Given the description of an element on the screen output the (x, y) to click on. 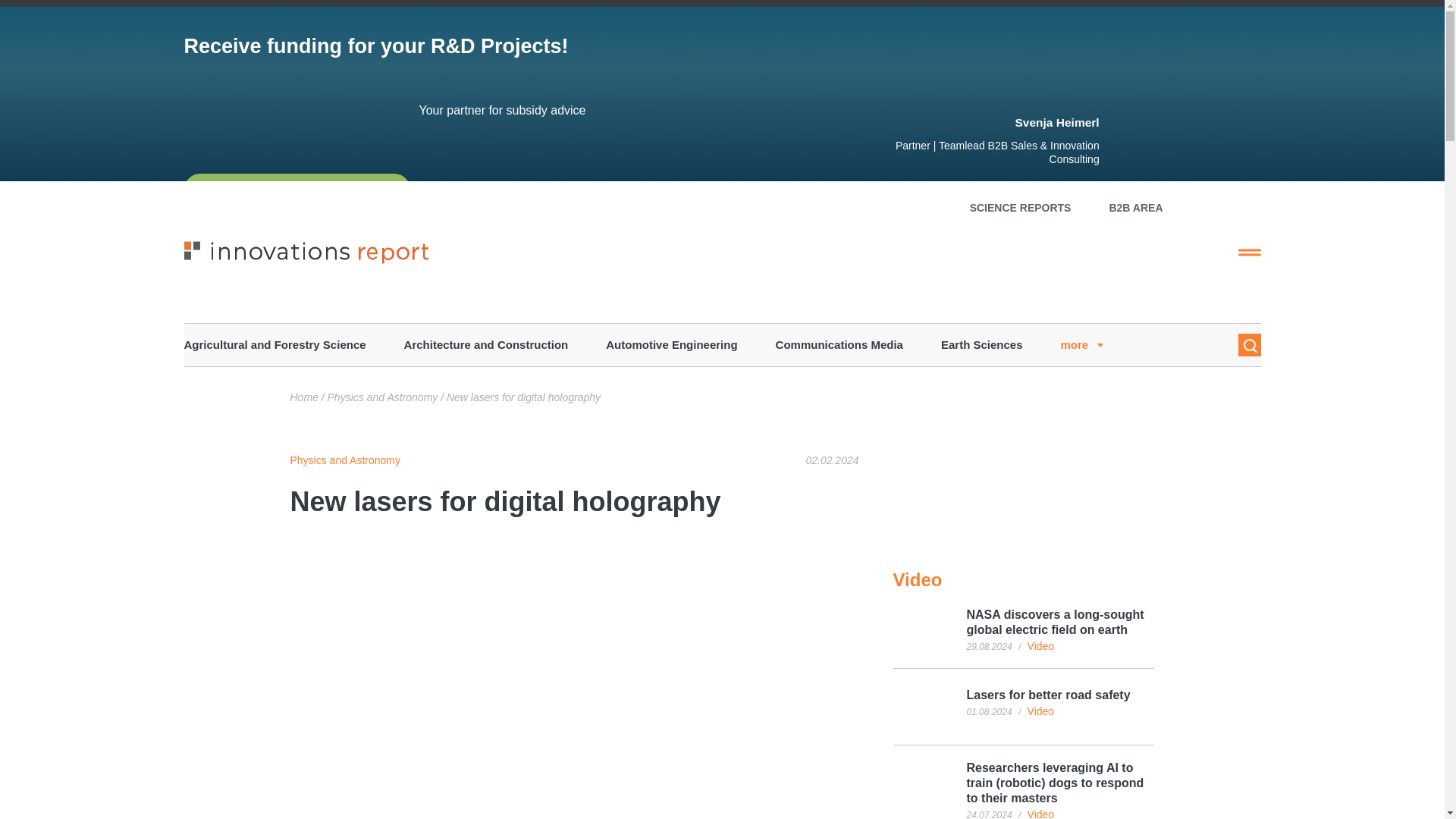
Arrange a free initial meeting (296, 189)
Automotive Engineering (670, 344)
Architecture and Construction (486, 344)
Communications Media (839, 344)
Agricultural and Forestry Science (274, 344)
SCIENCE REPORTS (1020, 207)
B2B AREA (1134, 207)
